Given the description of an element on the screen output the (x, y) to click on. 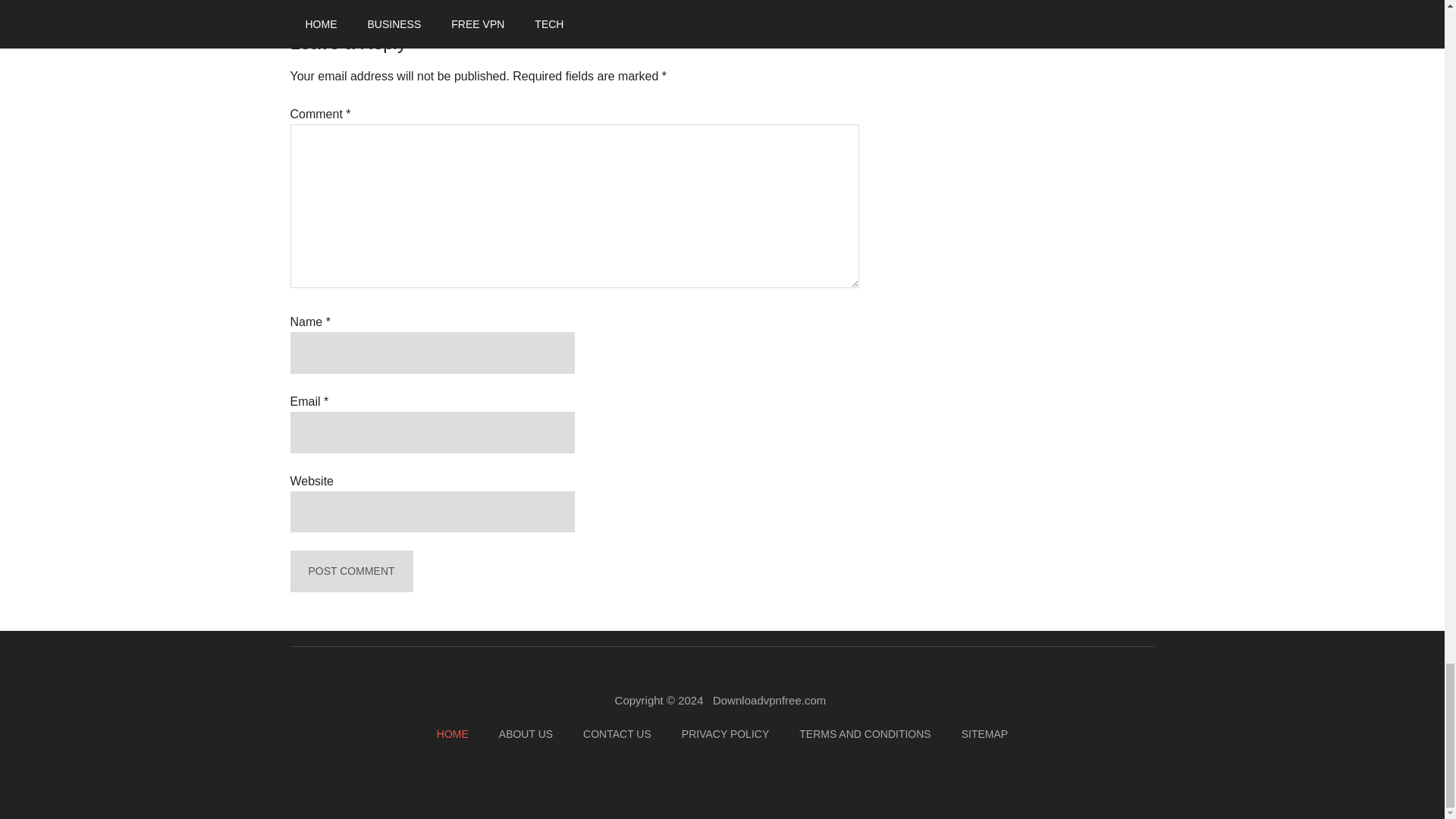
Post Comment (350, 571)
Post Comment (350, 571)
